Given the description of an element on the screen output the (x, y) to click on. 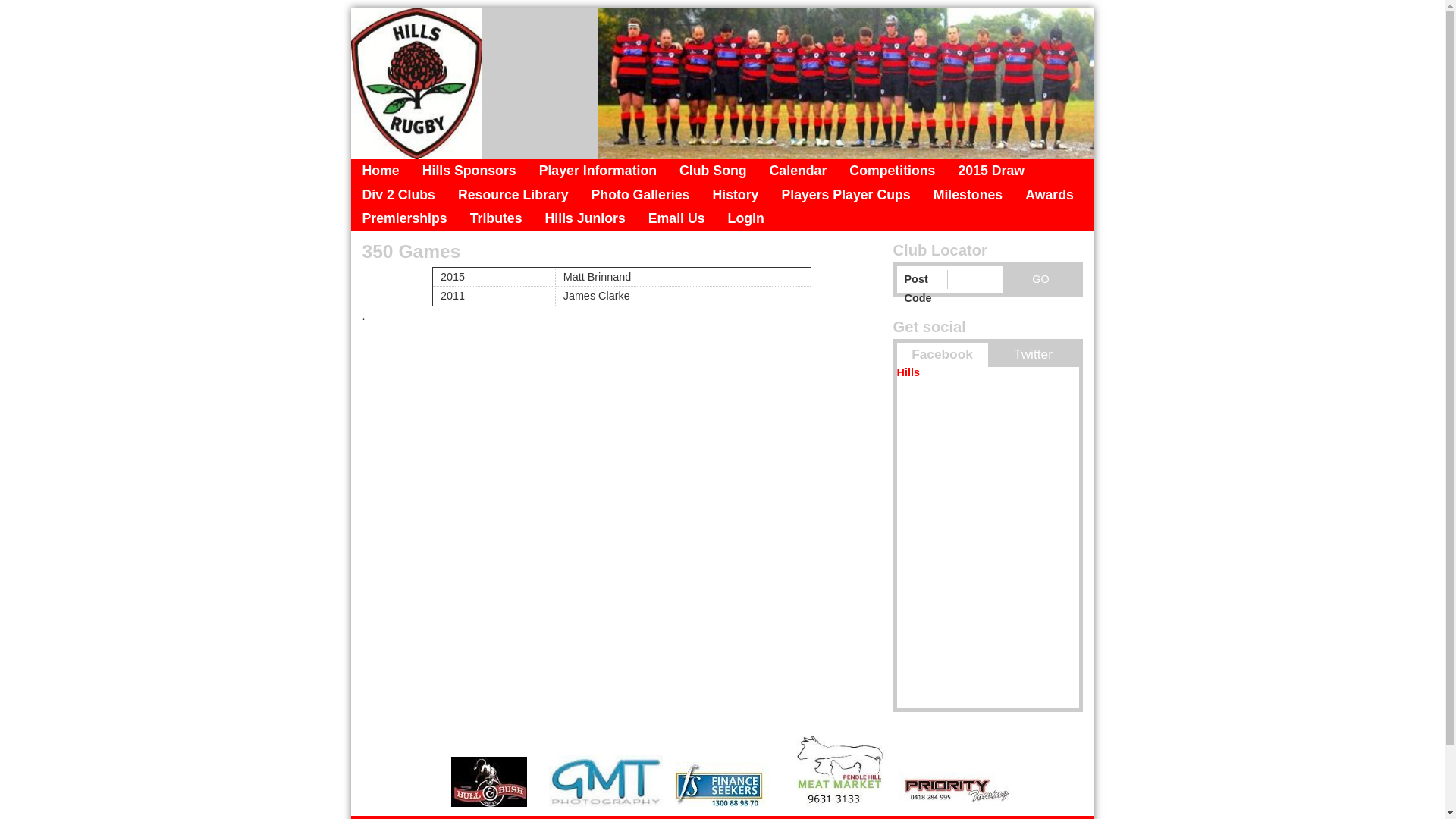
Twitter Element type: text (1032, 354)
Awards Element type: text (1049, 195)
Login Element type: text (745, 219)
Hills Juniors Element type: text (585, 219)
Milestones Element type: text (968, 195)
Photo Galleries Element type: text (640, 195)
History Element type: text (734, 195)
Players Player Cups Element type: text (845, 195)
Facebook Element type: text (941, 354)
Hills Element type: text (907, 372)
Resource Library Element type: text (513, 195)
Email Us Element type: text (676, 219)
Div 2 Clubs Element type: text (397, 195)
Club Song Element type: text (713, 171)
Hills Sponsors Element type: text (469, 171)
Player Information Element type: text (597, 171)
Tributes Element type: text (495, 219)
Home Element type: text (380, 171)
Go Element type: text (1040, 279)
2015 Draw Element type: text (990, 171)
Premierships Element type: text (404, 219)
Competitions Element type: text (891, 171)
Calendar Element type: text (798, 171)
